Given the description of an element on the screen output the (x, y) to click on. 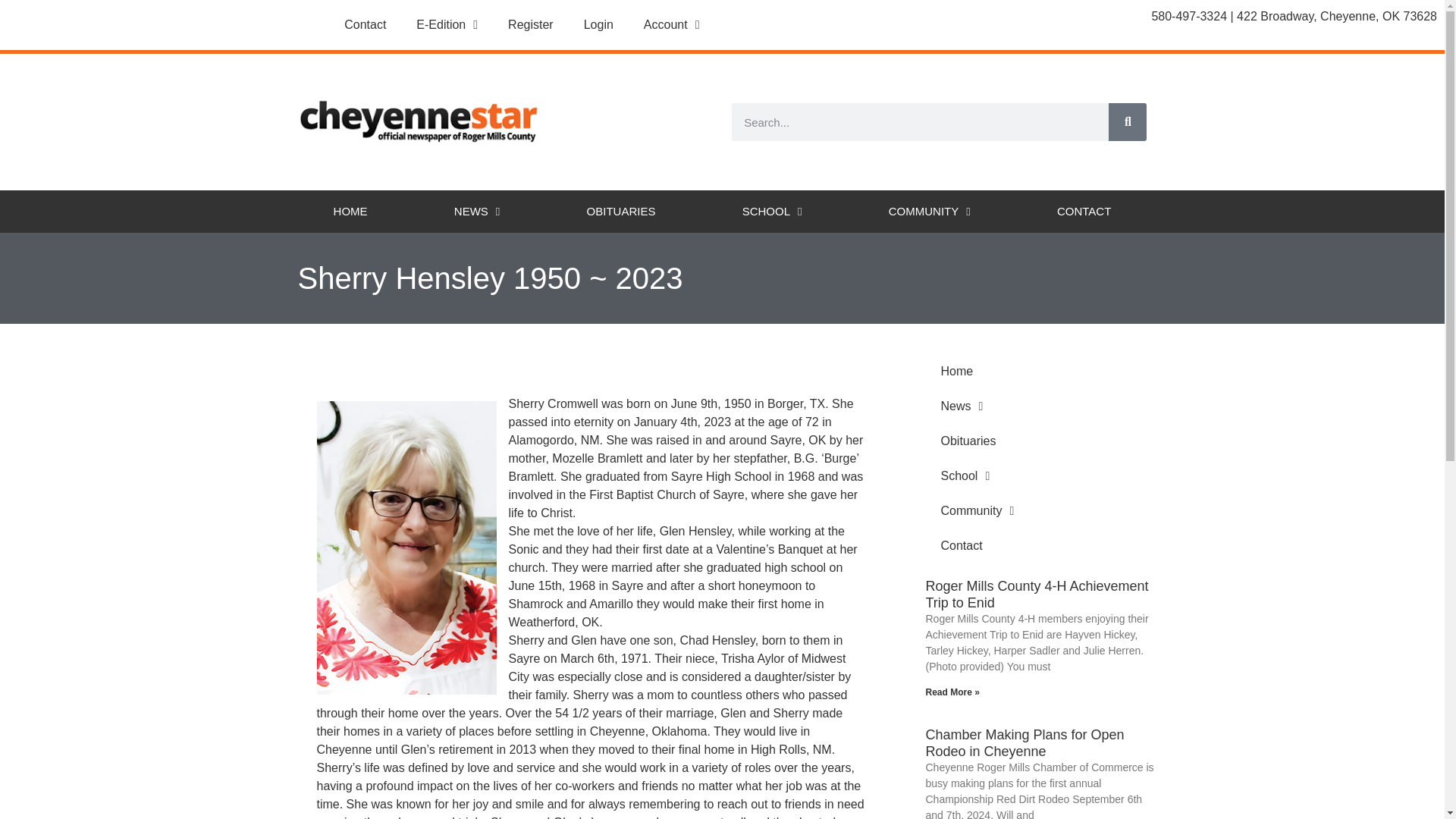
Register (531, 24)
Login (598, 24)
NEWS (476, 211)
E-Edition (447, 24)
Contact (365, 24)
Account (671, 24)
HOME (349, 211)
